Given the description of an element on the screen output the (x, y) to click on. 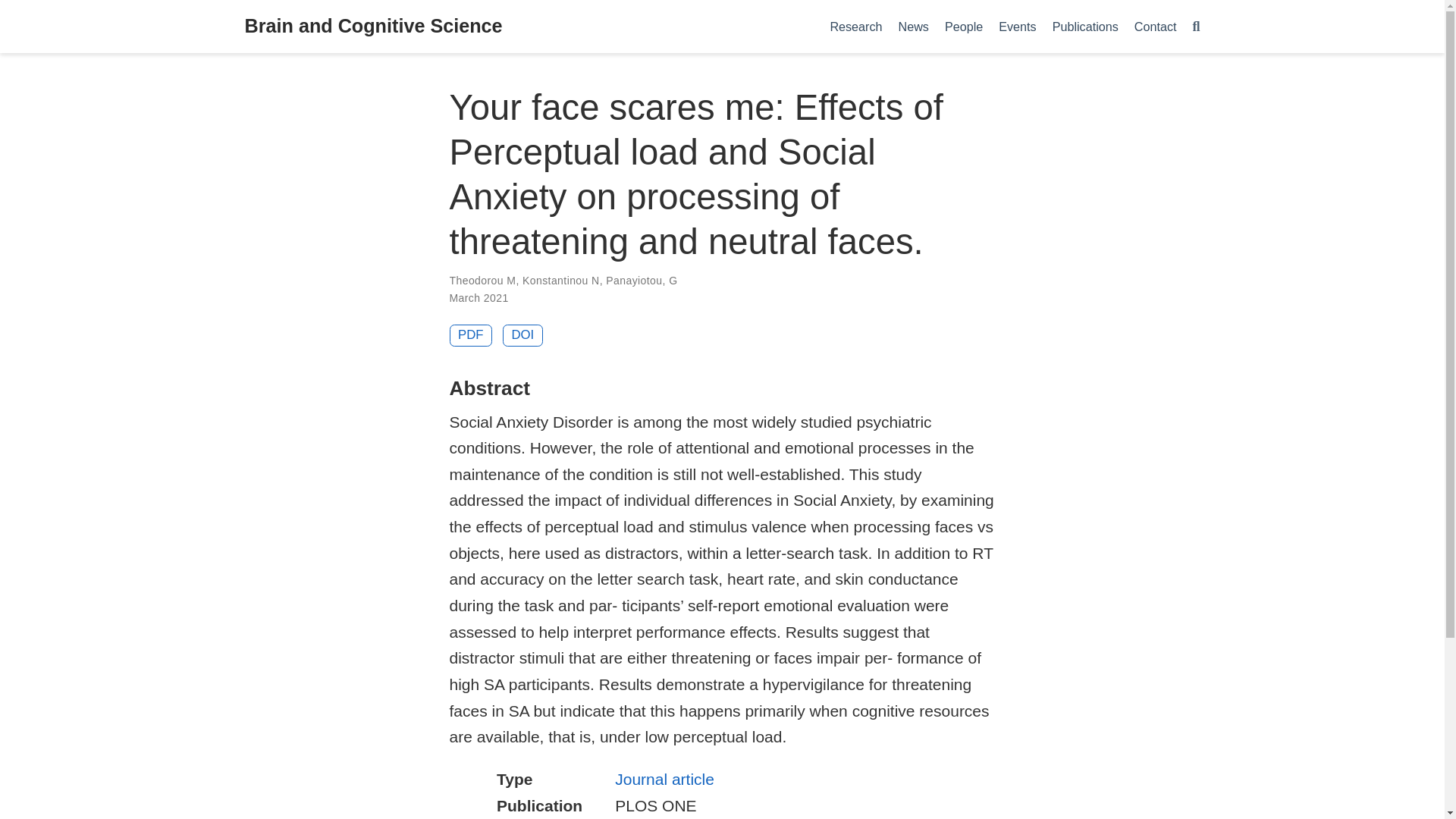
News (912, 25)
Theodorou M (481, 280)
People (963, 25)
Events (1017, 25)
Research (855, 25)
PDF (470, 335)
DOI (522, 335)
Panayiotou (633, 280)
Brain and Cognitive Science (373, 26)
Contact (1155, 25)
